Given the description of an element on the screen output the (x, y) to click on. 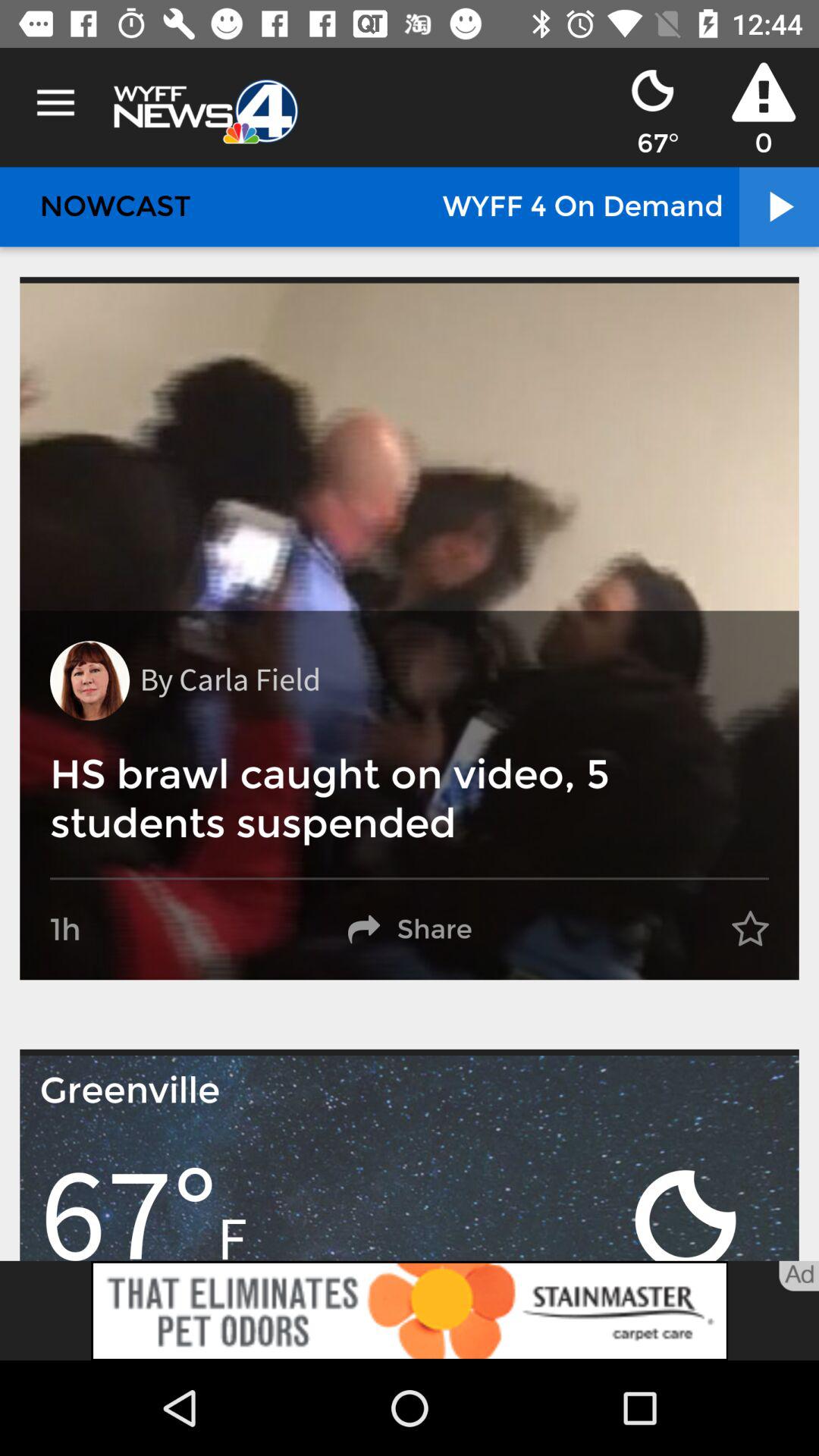
advertisement (409, 1310)
